Given the description of an element on the screen output the (x, y) to click on. 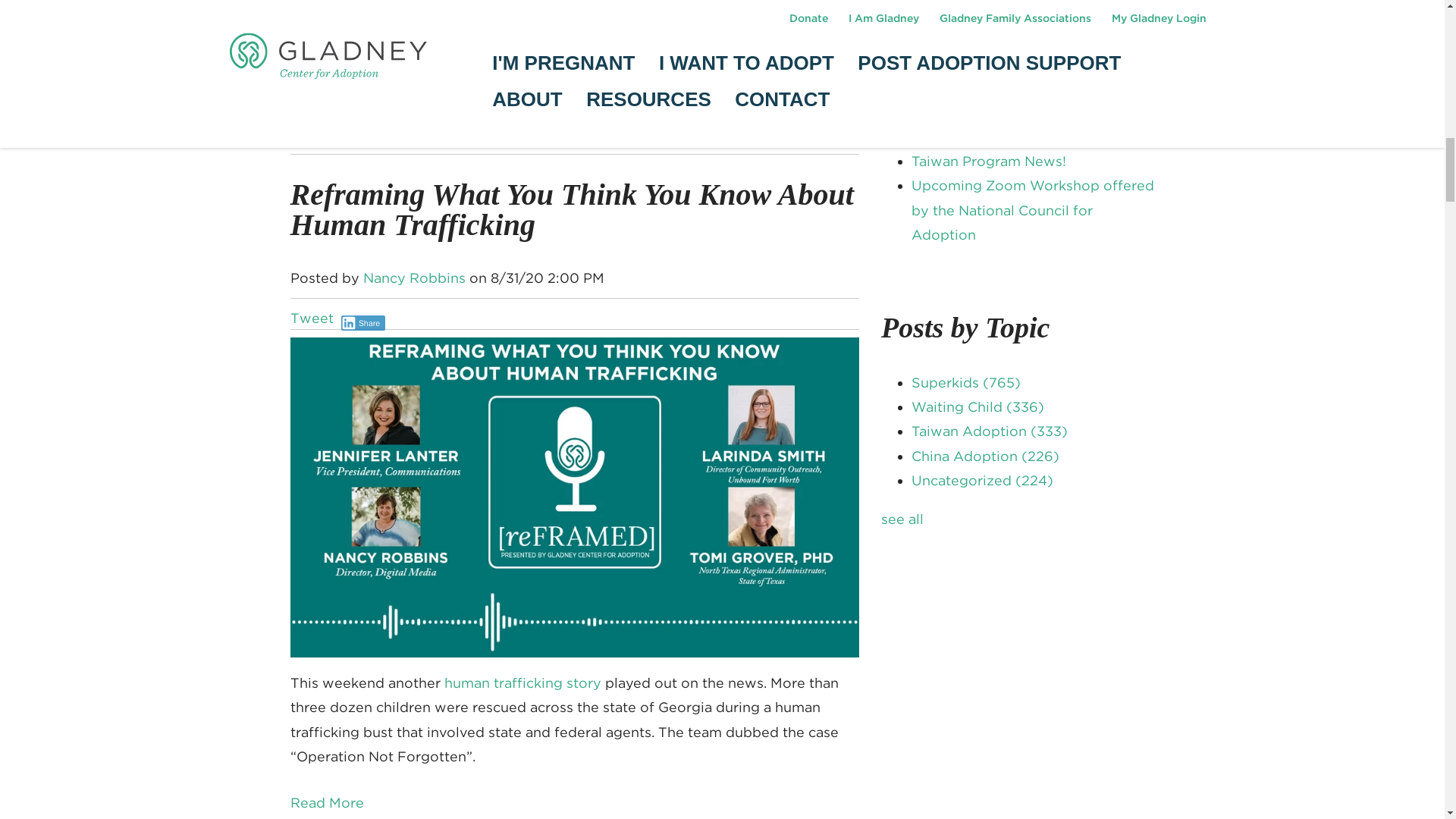
reFRAMED Podcast (407, 112)
Share (362, 322)
Read More (325, 802)
Read More (325, 16)
Reframing What You Think You Know About Human Trafficking (571, 209)
Tweet (311, 317)
Transracial Adoption (552, 112)
Nancy Robbins (413, 277)
human trafficking story (522, 682)
